Given the description of an element on the screen output the (x, y) to click on. 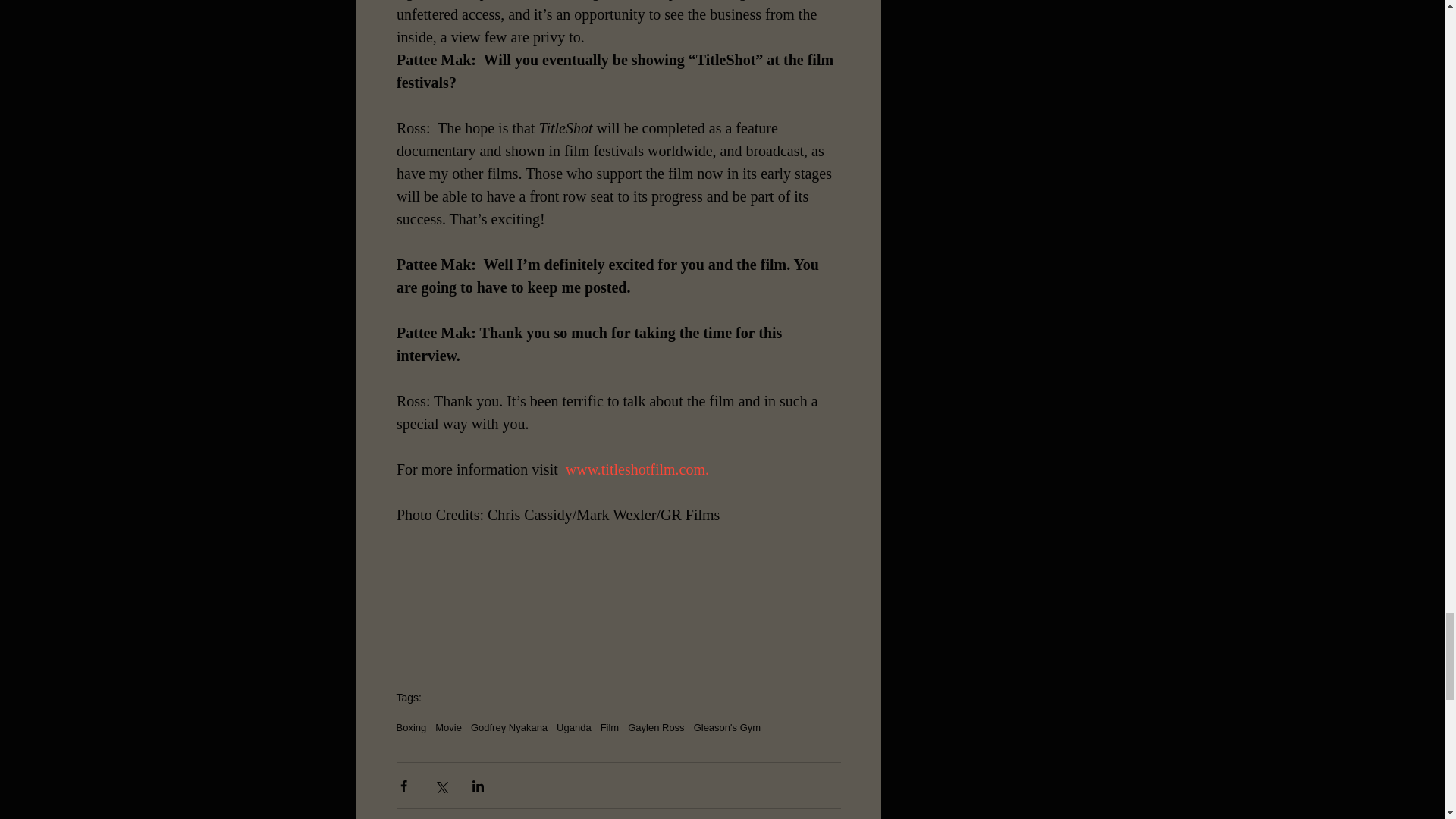
Gaylen Ross (655, 727)
Godfrey Nyakana (508, 727)
Boxing (411, 727)
Film (609, 727)
Uganda (573, 727)
Movie (448, 727)
www.titleshotfilm.com. (635, 469)
Gleason's Gym (727, 727)
